Given the description of an element on the screen output the (x, y) to click on. 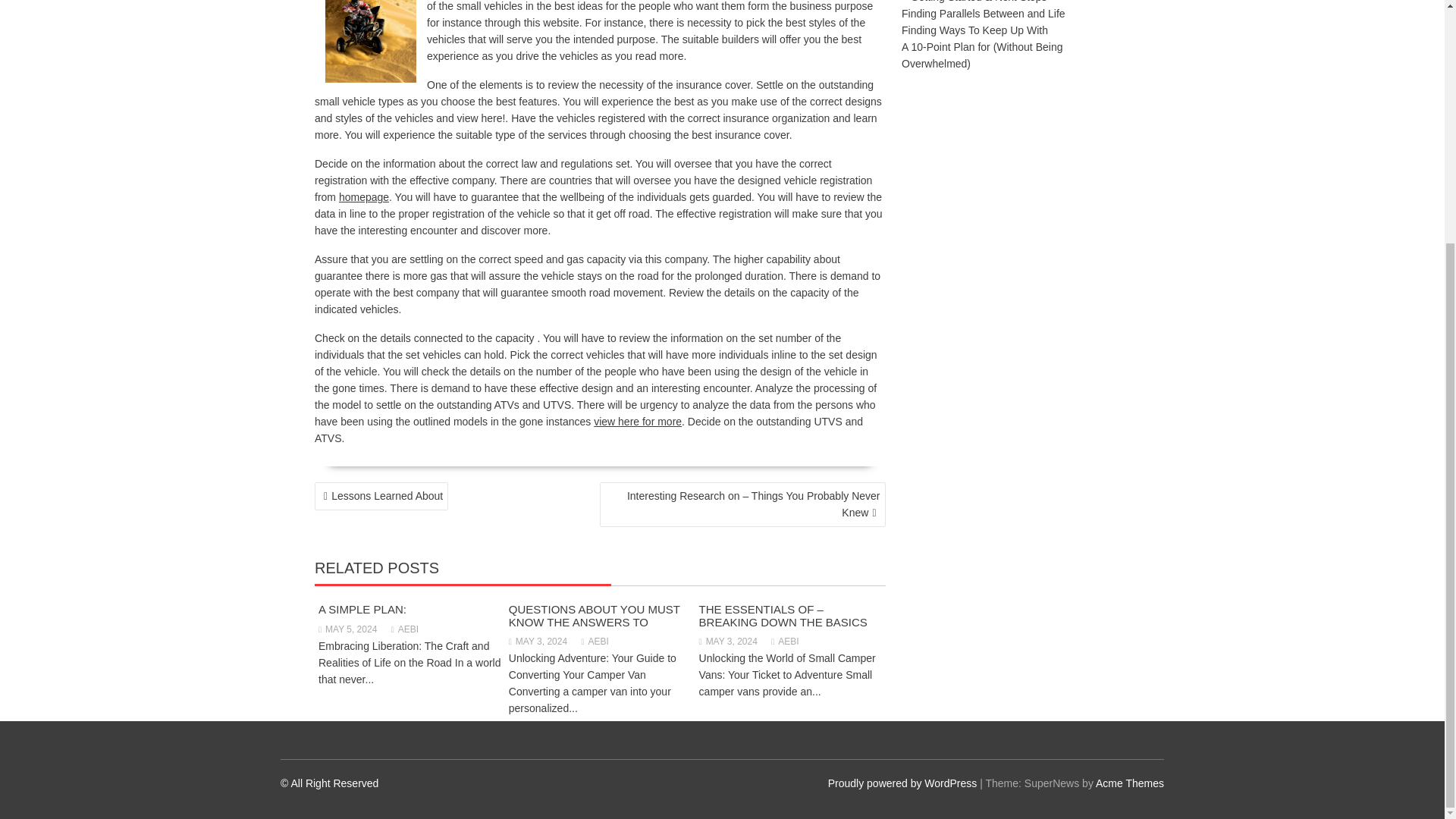
Proudly powered by WordPress (902, 783)
MAY 5, 2024 (347, 629)
Finding Parallels Between and Life (983, 13)
homepage (363, 196)
A SIMPLE PLAN: (362, 608)
AEBI (594, 641)
MAY 3, 2024 (727, 641)
AEBI (784, 641)
QUESTIONS ABOUT YOU MUST KNOW THE ANSWERS TO (593, 615)
view here for more (637, 421)
Lessons Learned About (381, 496)
MAY 3, 2024 (537, 641)
Finding Ways To Keep Up With (974, 30)
AEBI (405, 629)
Acme Themes (1129, 783)
